Given the description of an element on the screen output the (x, y) to click on. 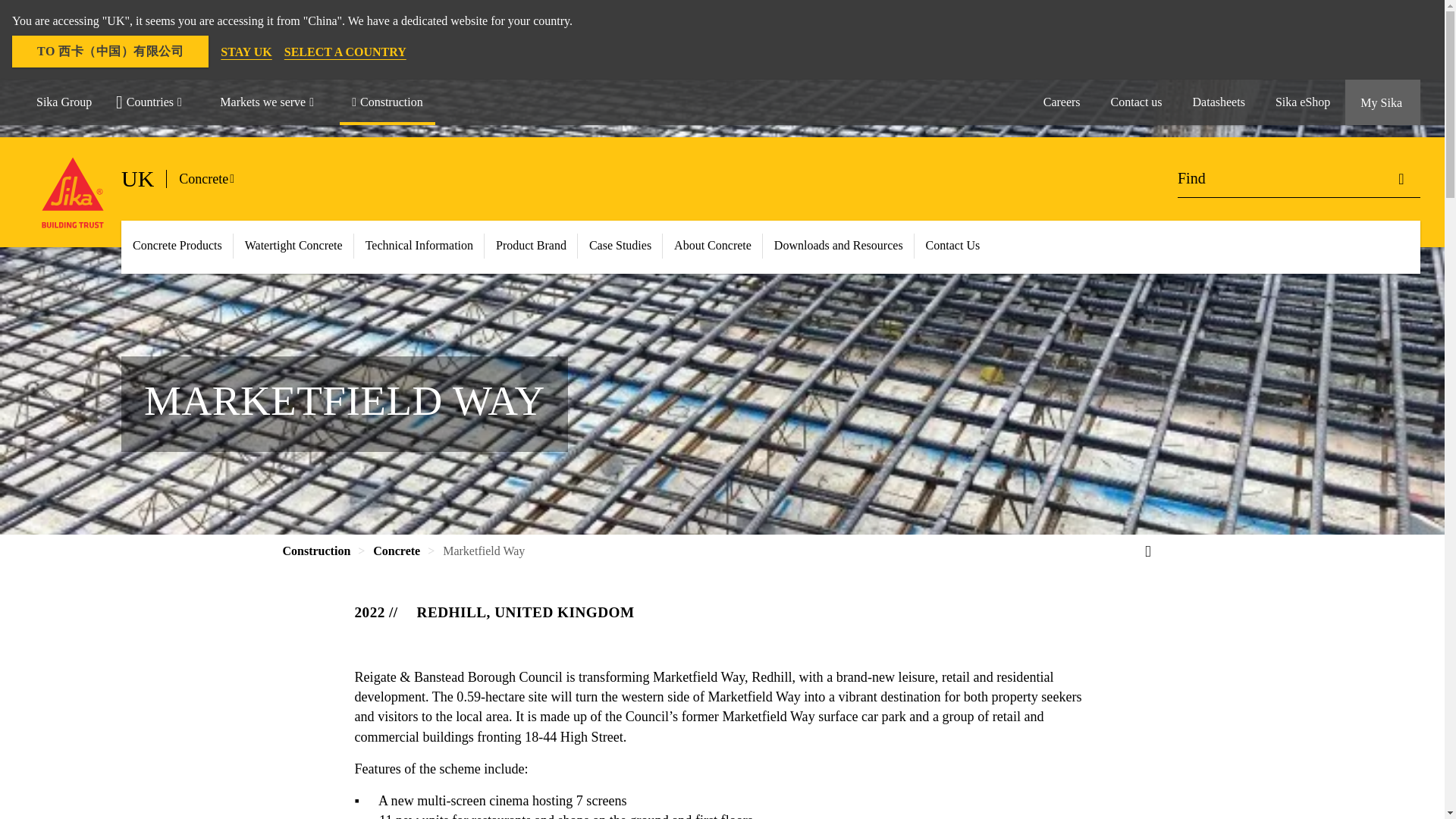
Sika Logo (72, 192)
SELECT A COUNTRY (344, 51)
STAY UK (245, 51)
Markets we serve (273, 102)
Careers (1061, 102)
Contact us (1136, 102)
Datasheets (1218, 102)
My Sika  (1383, 102)
Construction (387, 102)
Countries (155, 102)
Sika Group (63, 102)
Sika eShop (1302, 102)
Concrete (212, 178)
